Given the description of an element on the screen output the (x, y) to click on. 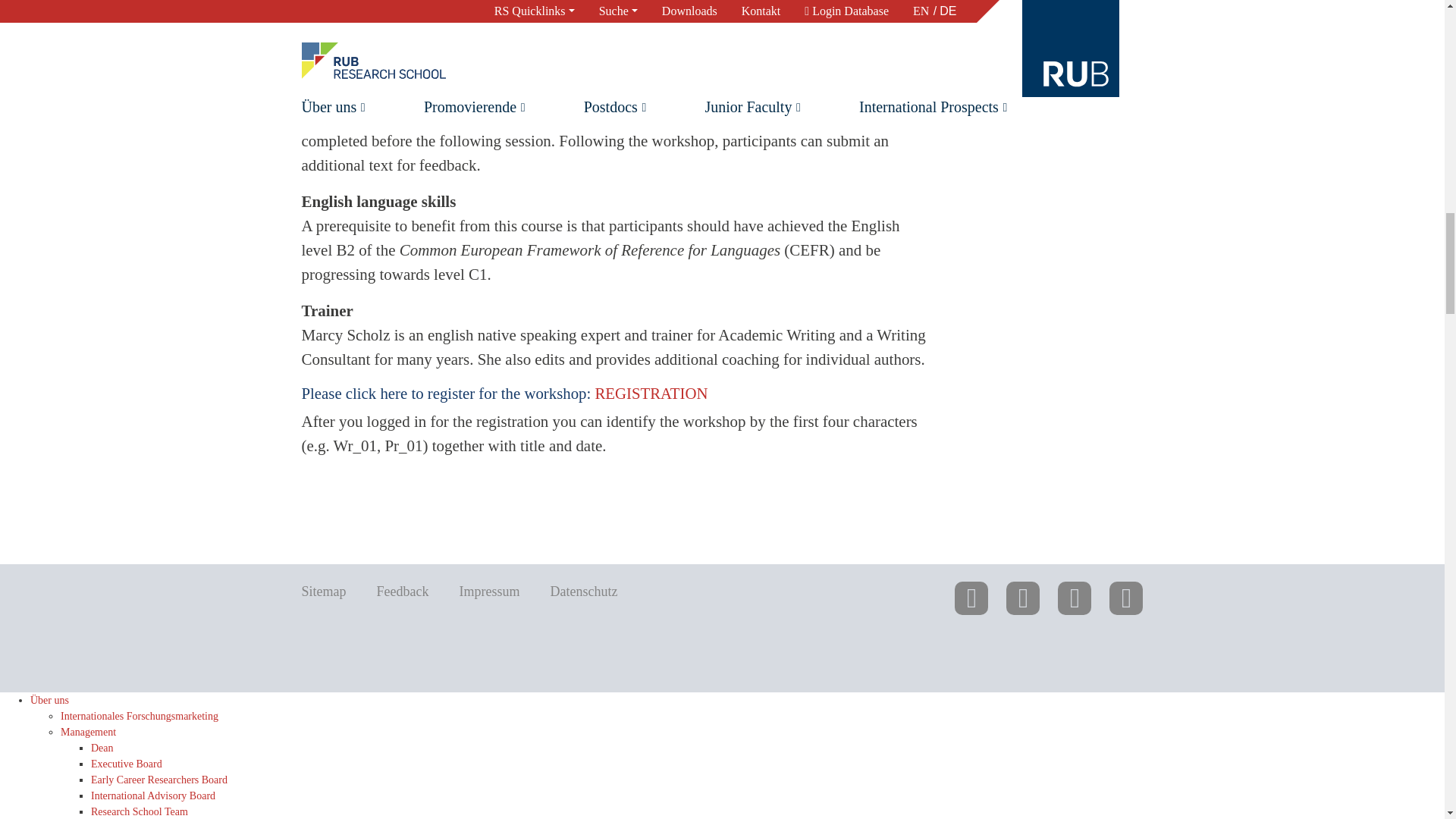
Research School Team (138, 811)
Early Career Researchers Board (158, 779)
Management (88, 731)
International Advisory Board (152, 795)
Dean (101, 747)
Internationales Forschungsmarketing (139, 715)
Executive Board (125, 763)
